Given the description of an element on the screen output the (x, y) to click on. 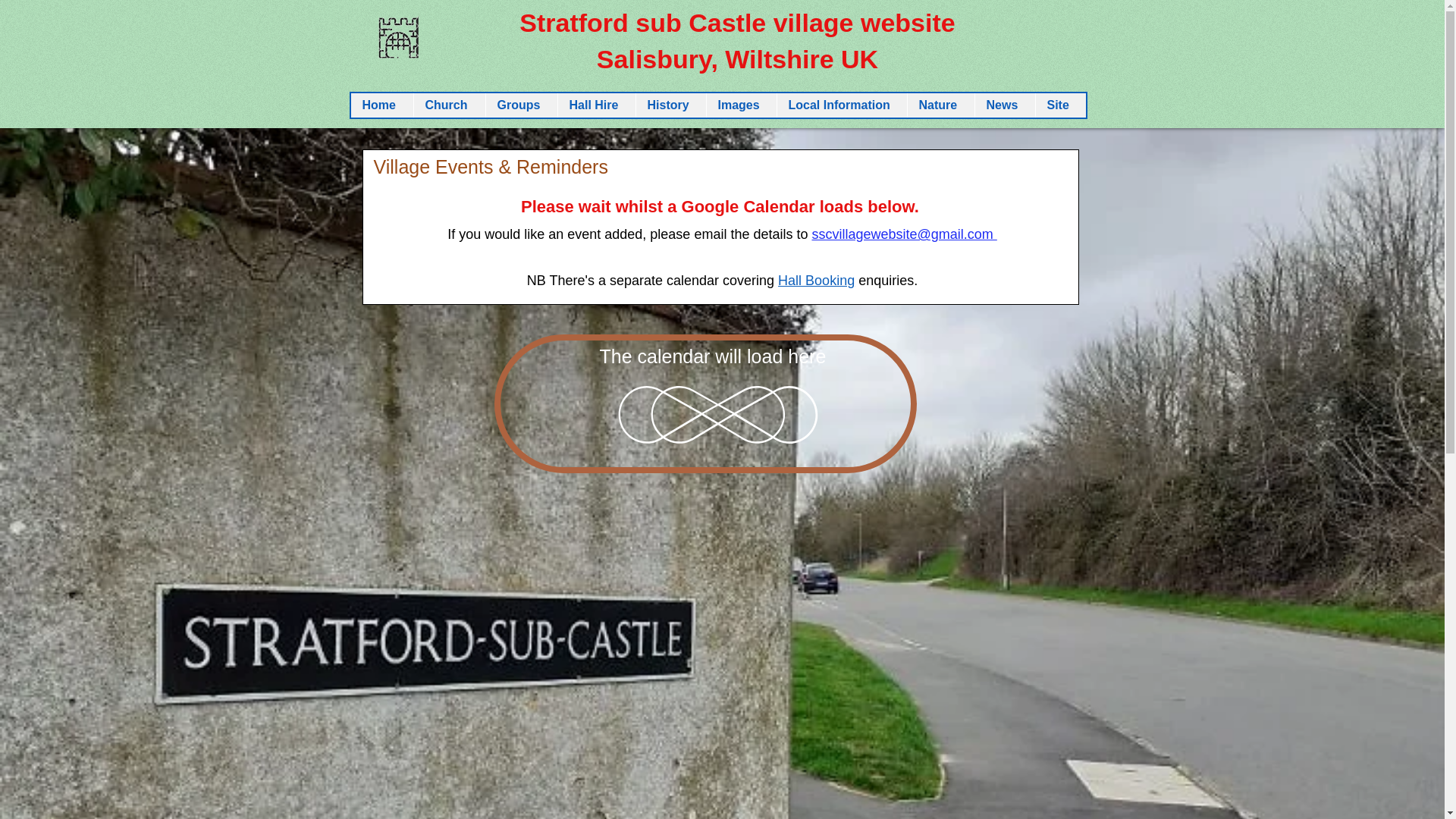
Home (381, 105)
